Given the description of an element on the screen output the (x, y) to click on. 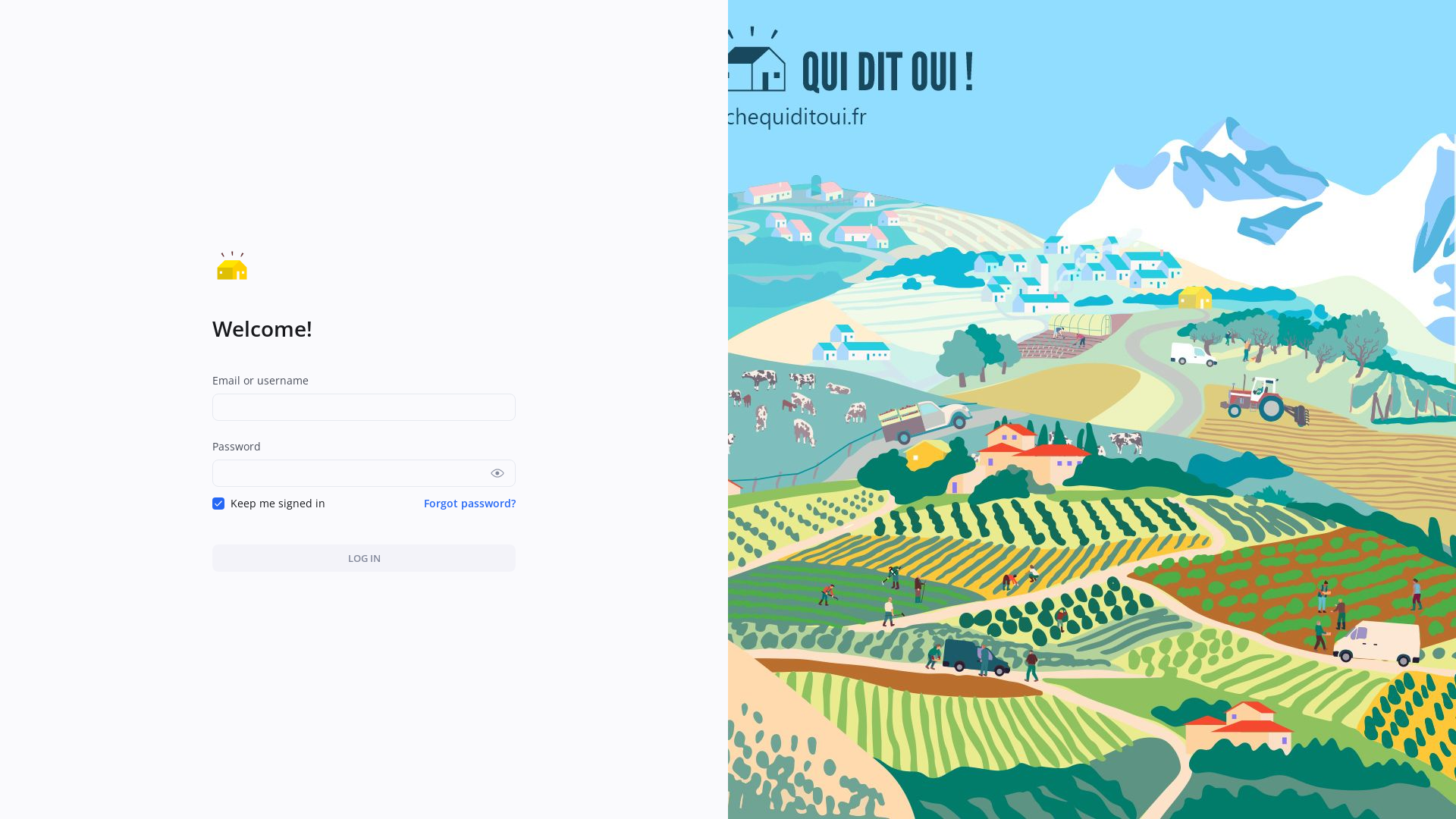
Forgot password? Element type: text (469, 502)
LOG IN Element type: text (363, 557)
